Given the description of an element on the screen output the (x, y) to click on. 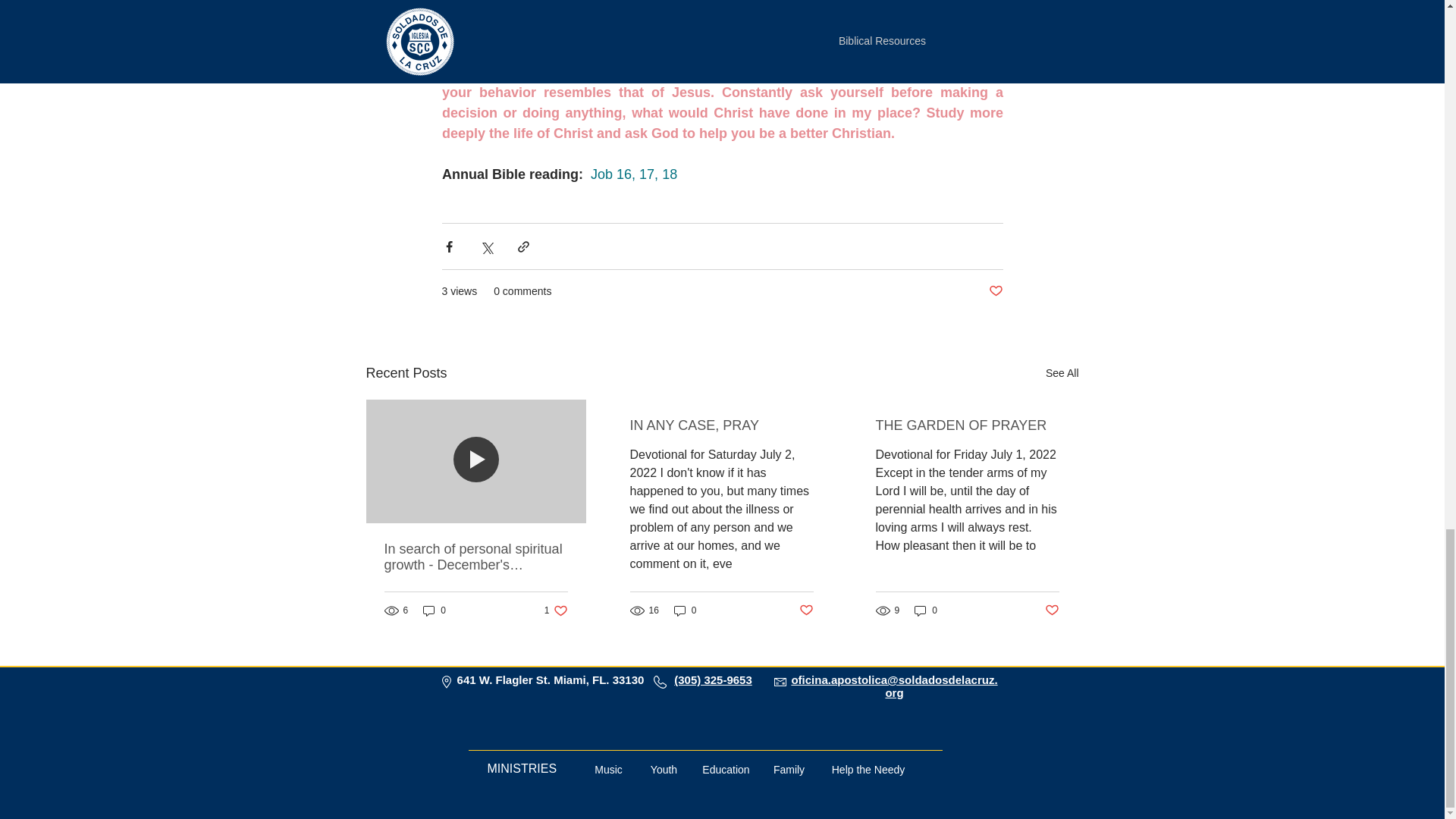
Family (788, 770)
0 (434, 610)
Education (725, 770)
18  (671, 174)
0 (925, 610)
0 (685, 610)
Post not marked as liked (555, 610)
Youth (1052, 610)
Post not marked as liked (663, 770)
17, (806, 610)
 Job 16, (648, 174)
See All (610, 174)
THE GARDEN OF PRAYER (1061, 373)
